Given the description of an element on the screen output the (x, y) to click on. 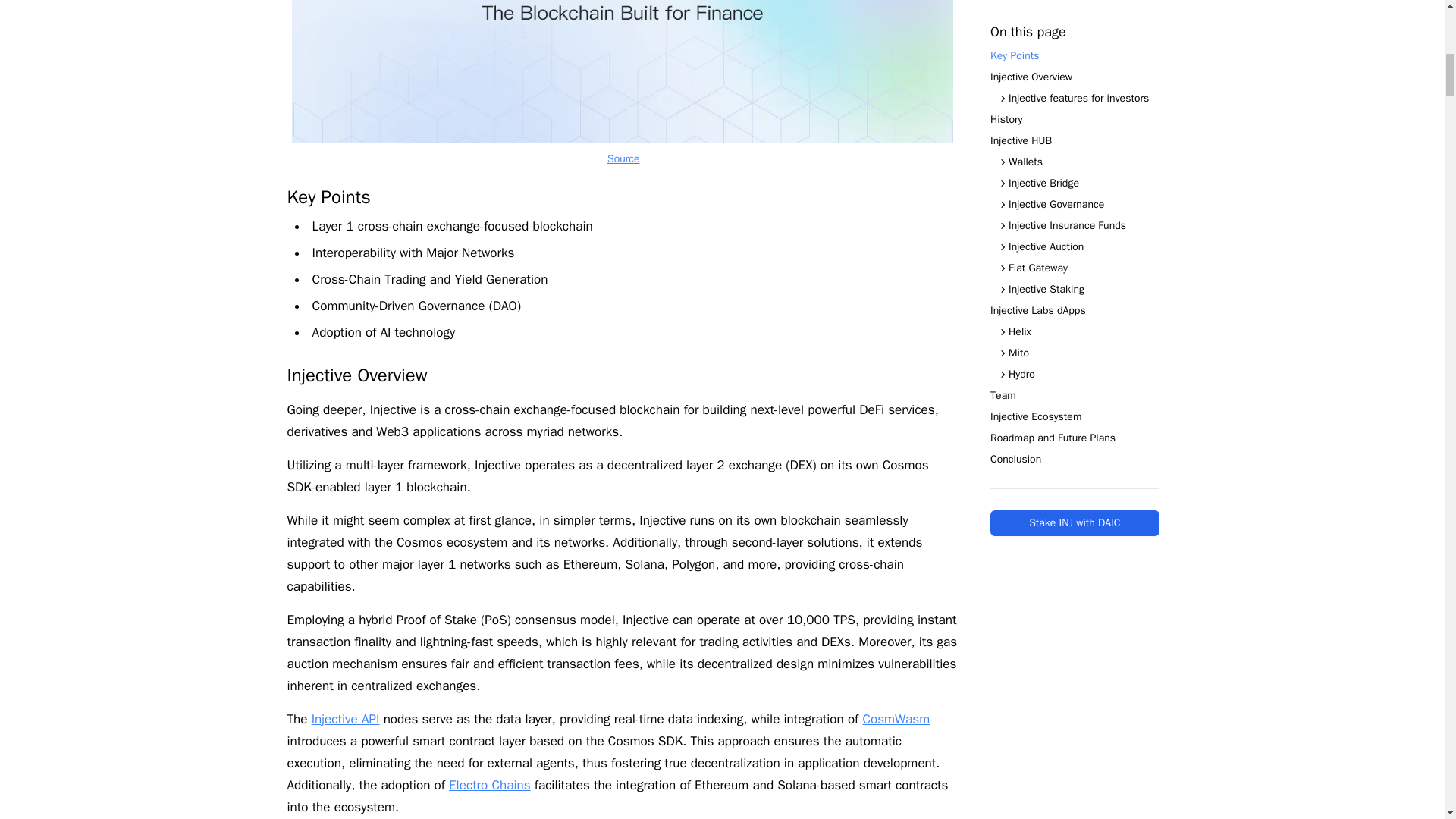
CosmWasm (895, 719)
Injective API (345, 719)
Source (623, 158)
Electro Chains (489, 785)
